Given the description of an element on the screen output the (x, y) to click on. 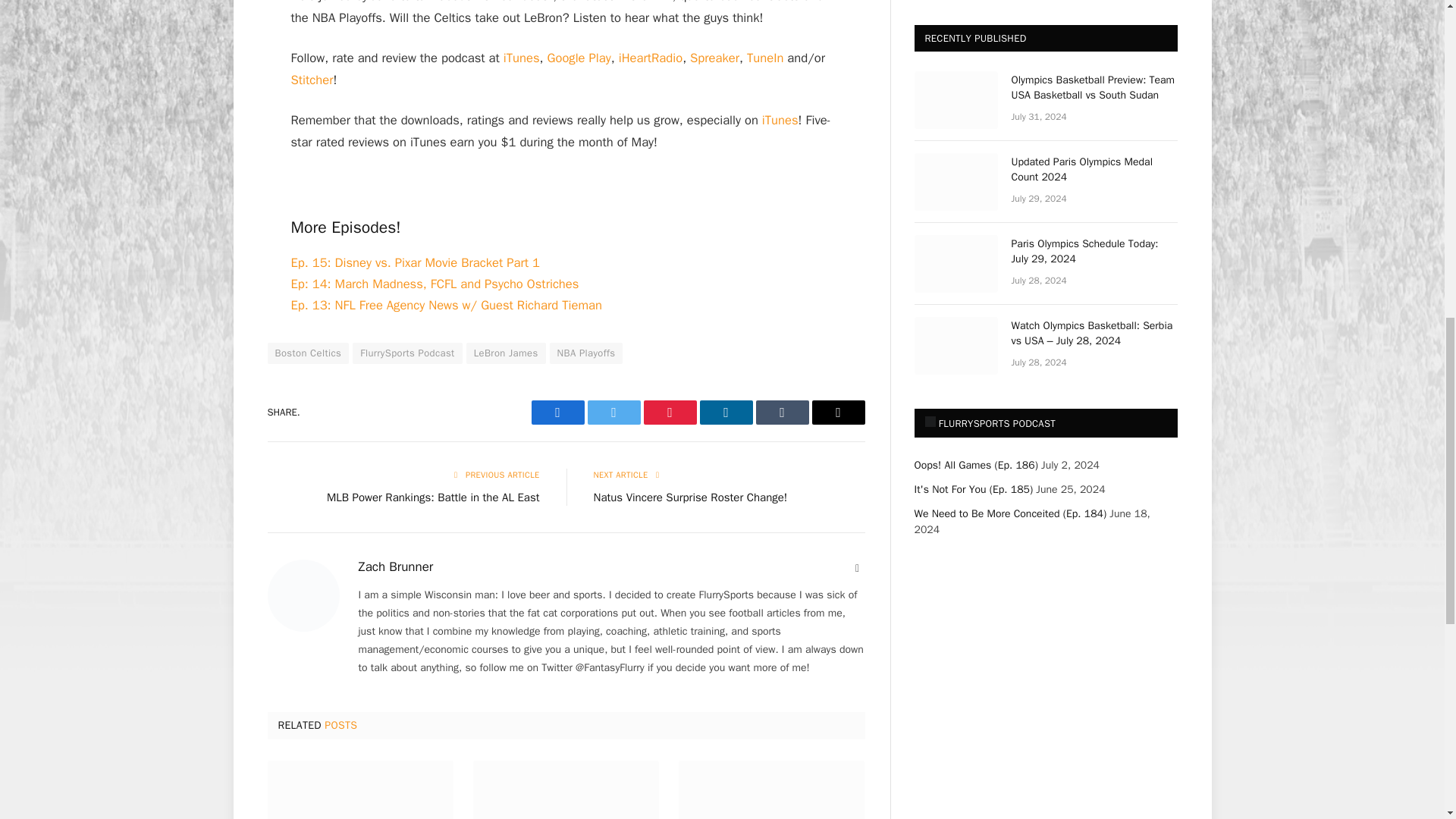
Share on LinkedIn (725, 412)
Posts by Zach Brunner (395, 566)
Share on Pinterest (669, 412)
Share via Email (837, 412)
Share on Tumblr (781, 412)
Share on Facebook (557, 412)
